Given the description of an element on the screen output the (x, y) to click on. 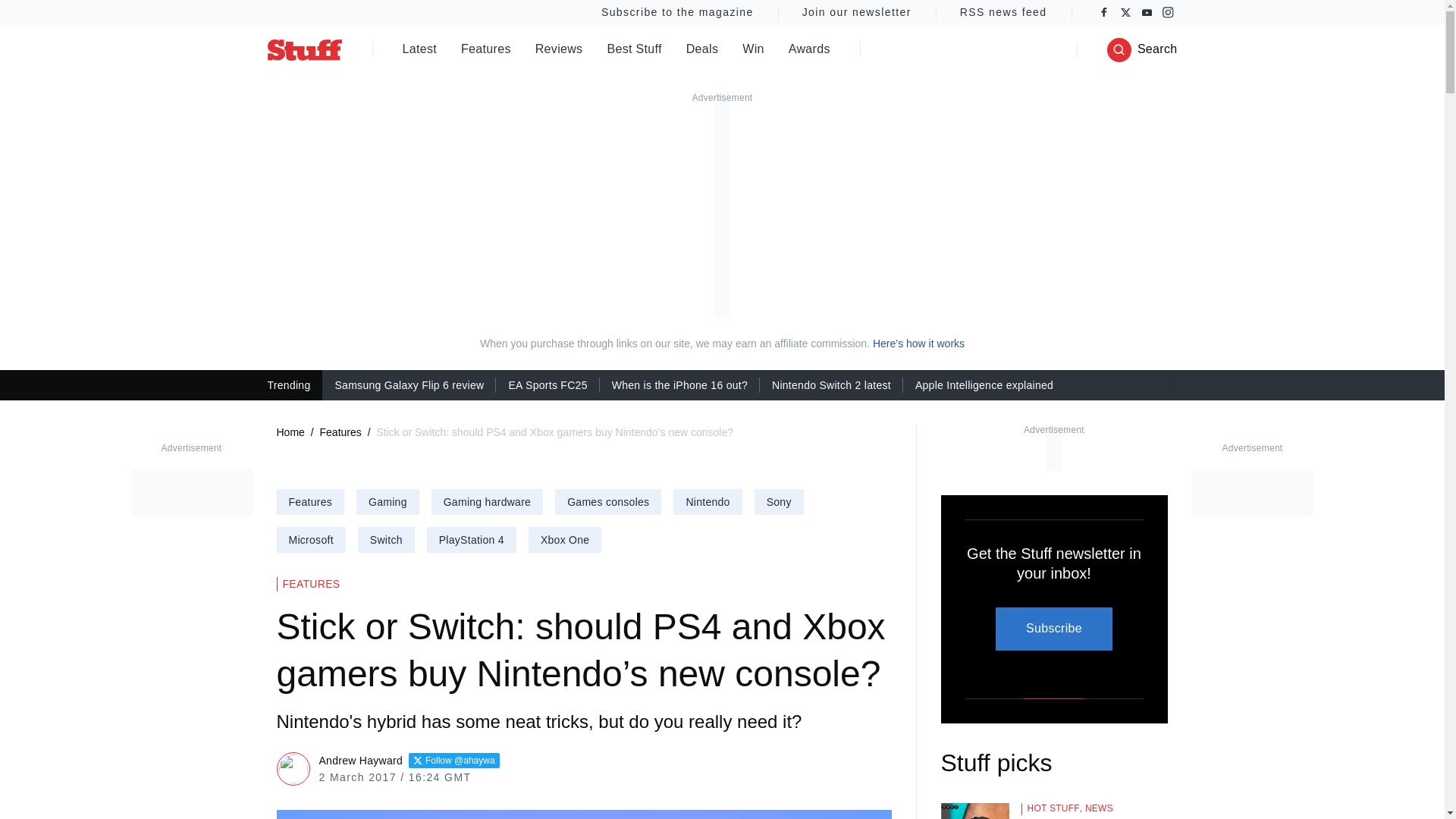
Search (1141, 49)
Facebook (1103, 12)
Subscribe to the magazine (676, 11)
Stuff (303, 49)
Latest (418, 50)
Awards (809, 50)
RSS news feed (1003, 11)
When is the iPhone 16 out? (679, 384)
Samsung Galaxy Flip 6 review (408, 384)
Reviews (559, 50)
